Given the description of an element on the screen output the (x, y) to click on. 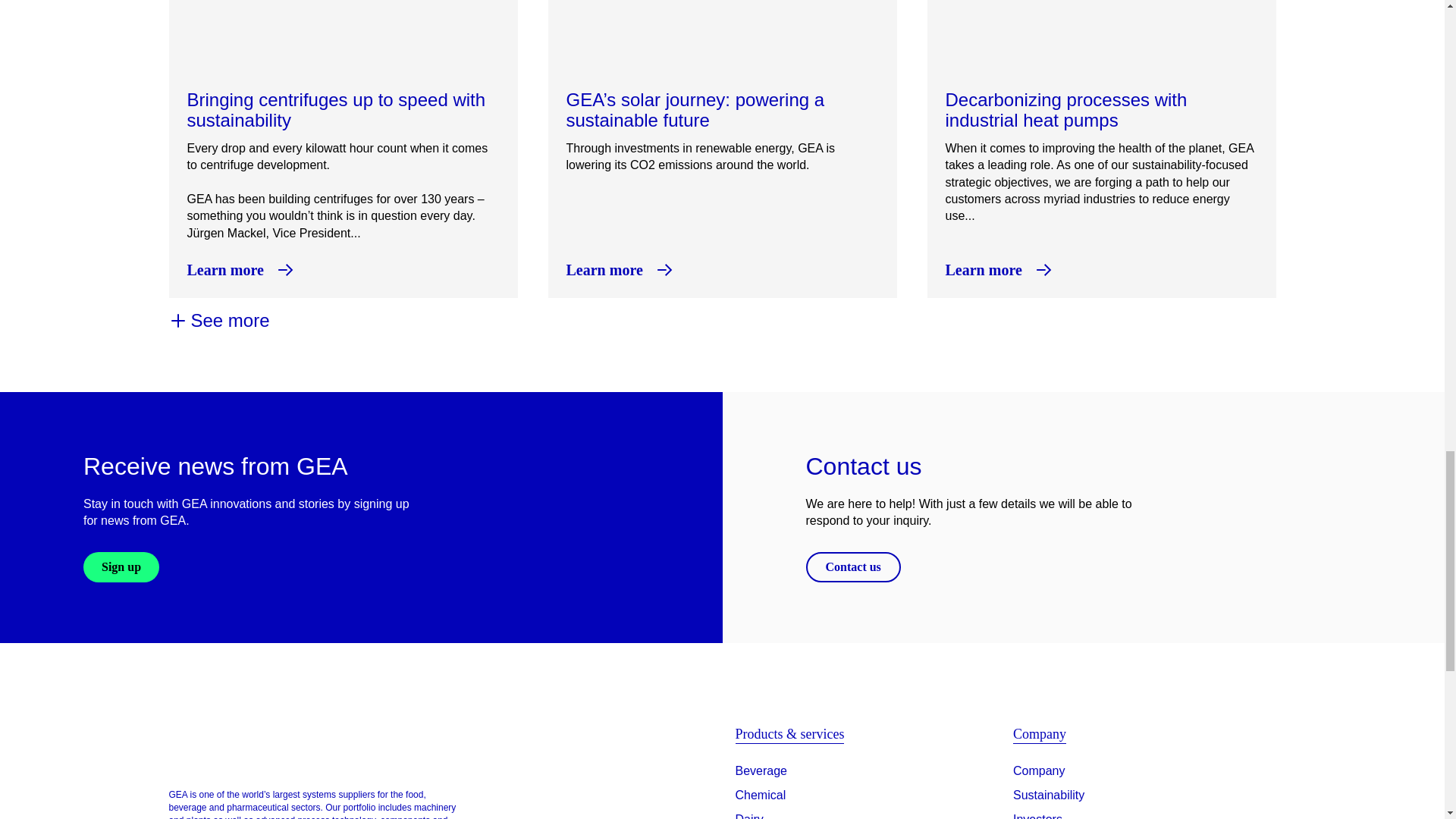
Investors (1037, 814)
Company (1038, 771)
Sustainability (1048, 795)
